Given the description of an element on the screen output the (x, y) to click on. 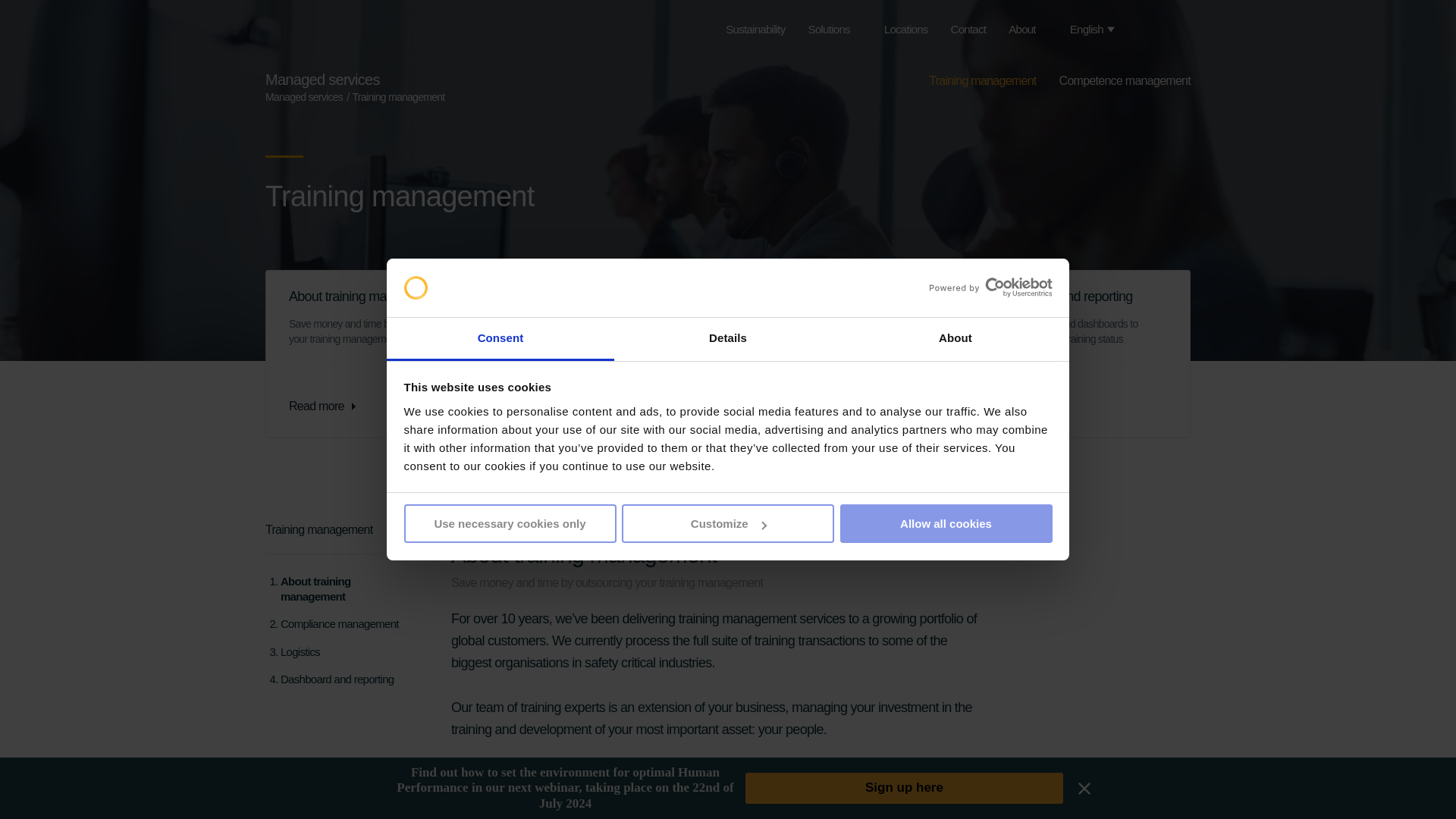
Consent (500, 339)
About (954, 339)
Details (727, 339)
